Given the description of an element on the screen output the (x, y) to click on. 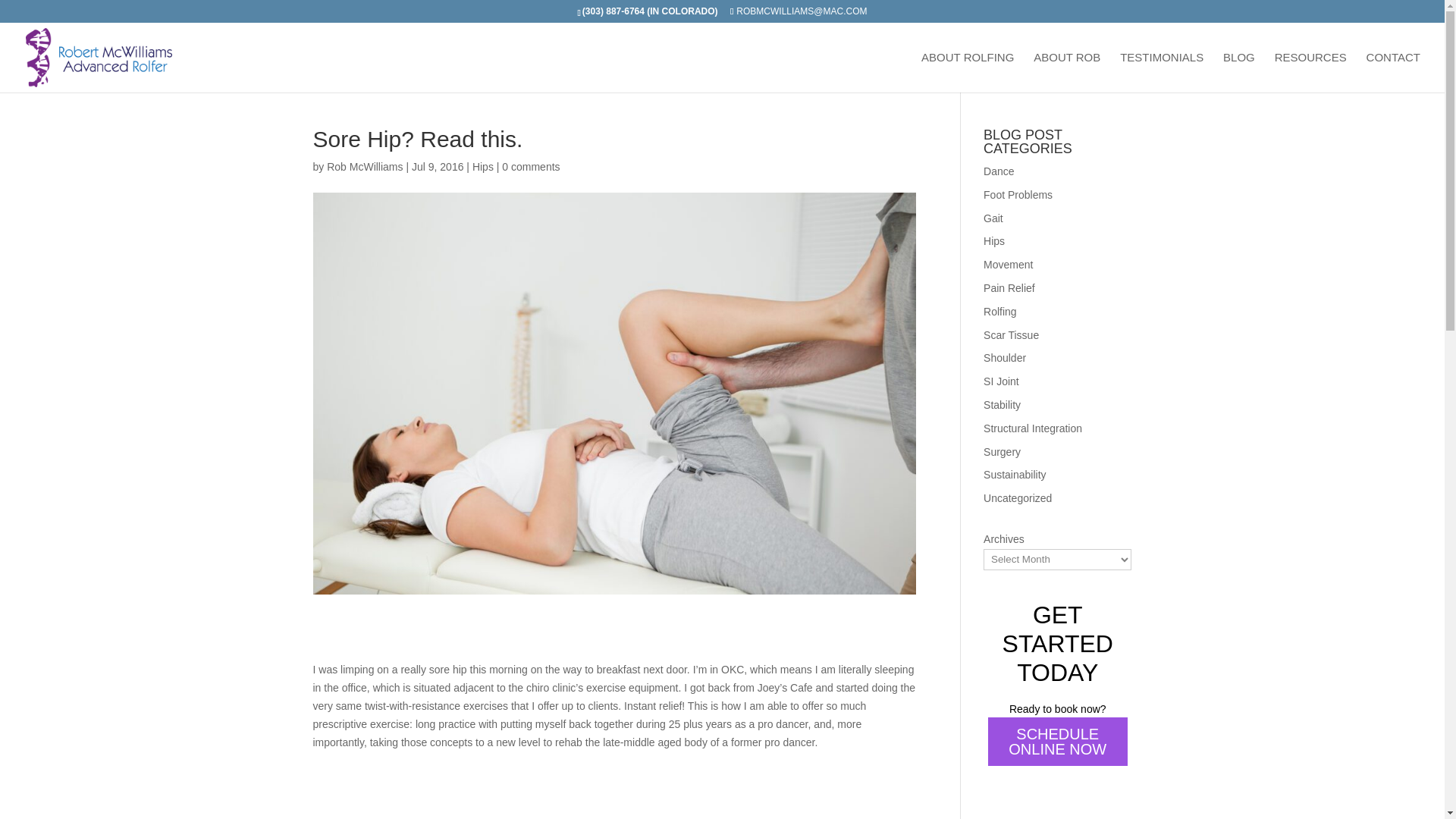
TESTIMONIALS (1161, 72)
Hips (482, 166)
Structural Integration (1032, 428)
Hips (994, 241)
Pain Relief (1009, 287)
Scar Tissue (1011, 335)
Sustainability (1015, 474)
Dance (998, 171)
ABOUT ROLFING (967, 72)
CONTACT (1394, 72)
